Given the description of an element on the screen output the (x, y) to click on. 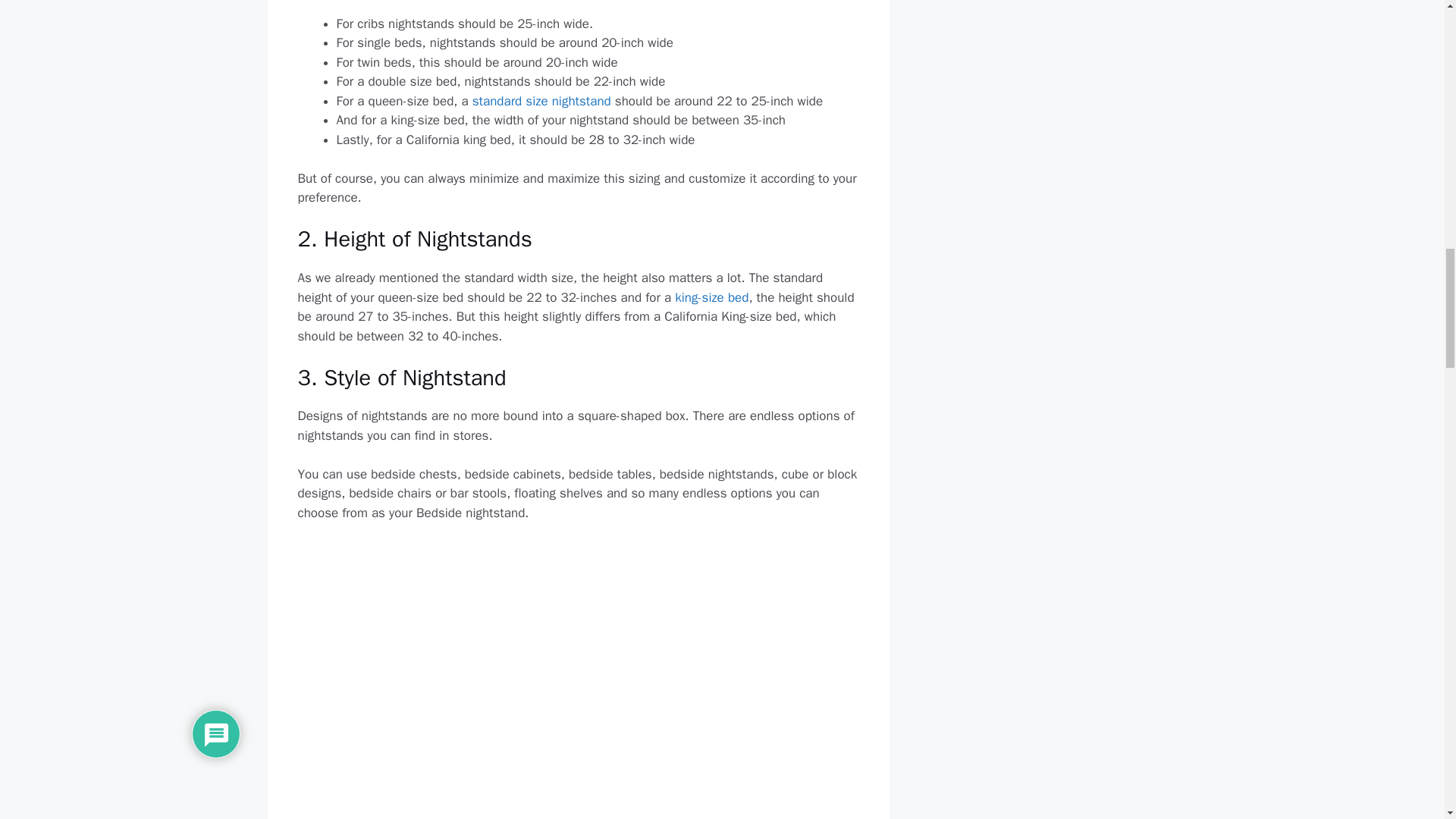
standard size nightstand (541, 100)
king-size bed (711, 297)
